Given the description of an element on the screen output the (x, y) to click on. 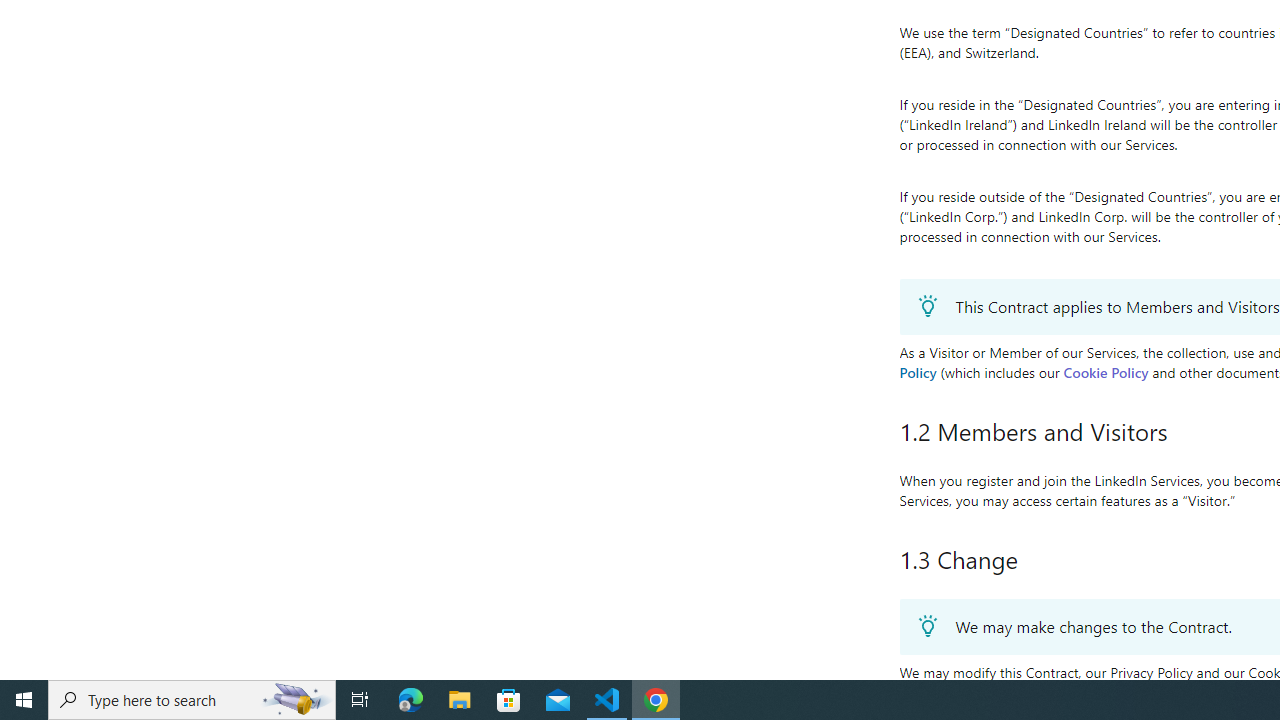
Cookie Policy (1105, 372)
